Given the description of an element on the screen output the (x, y) to click on. 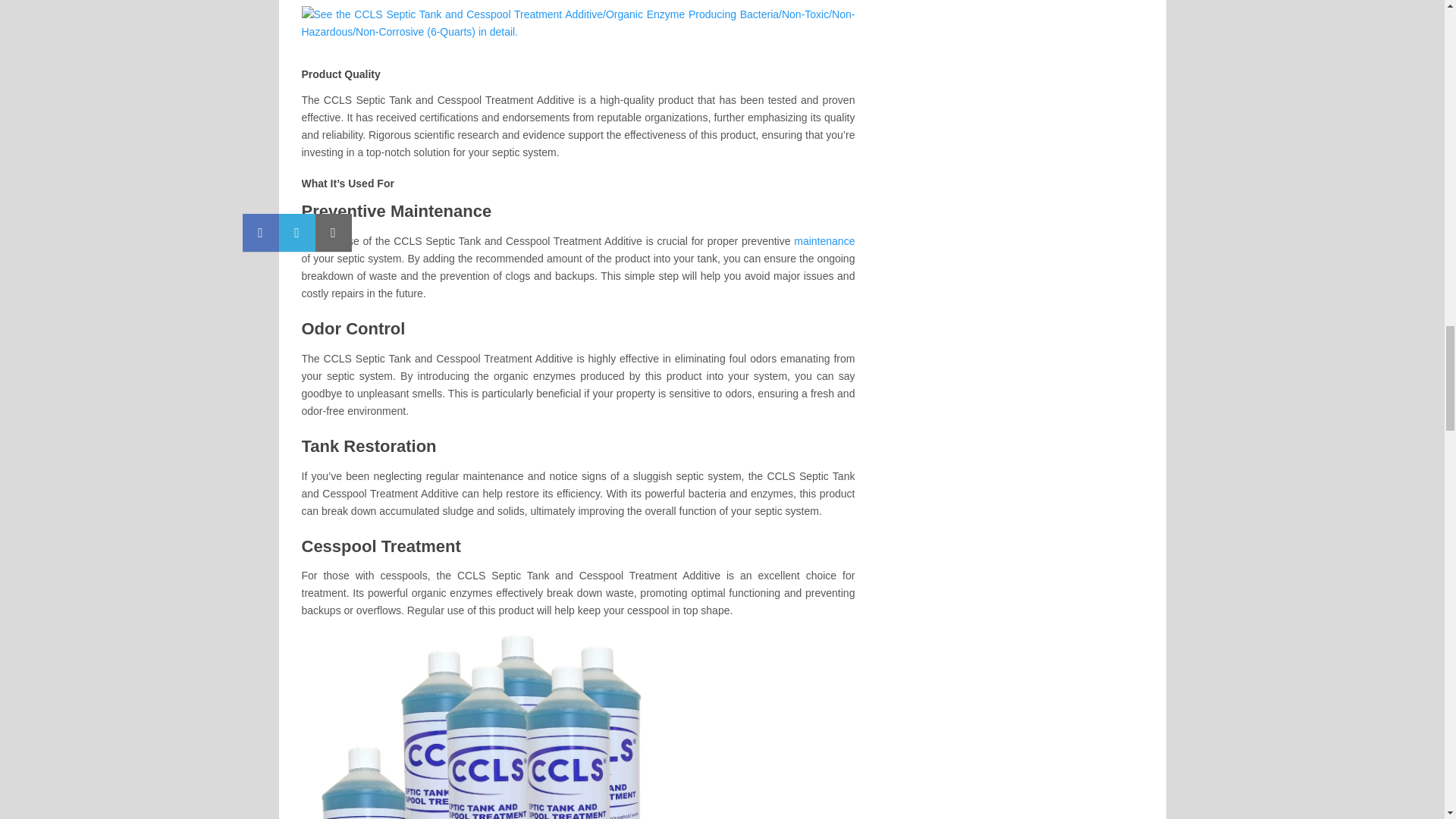
maintenance (823, 241)
